Given the description of an element on the screen output the (x, y) to click on. 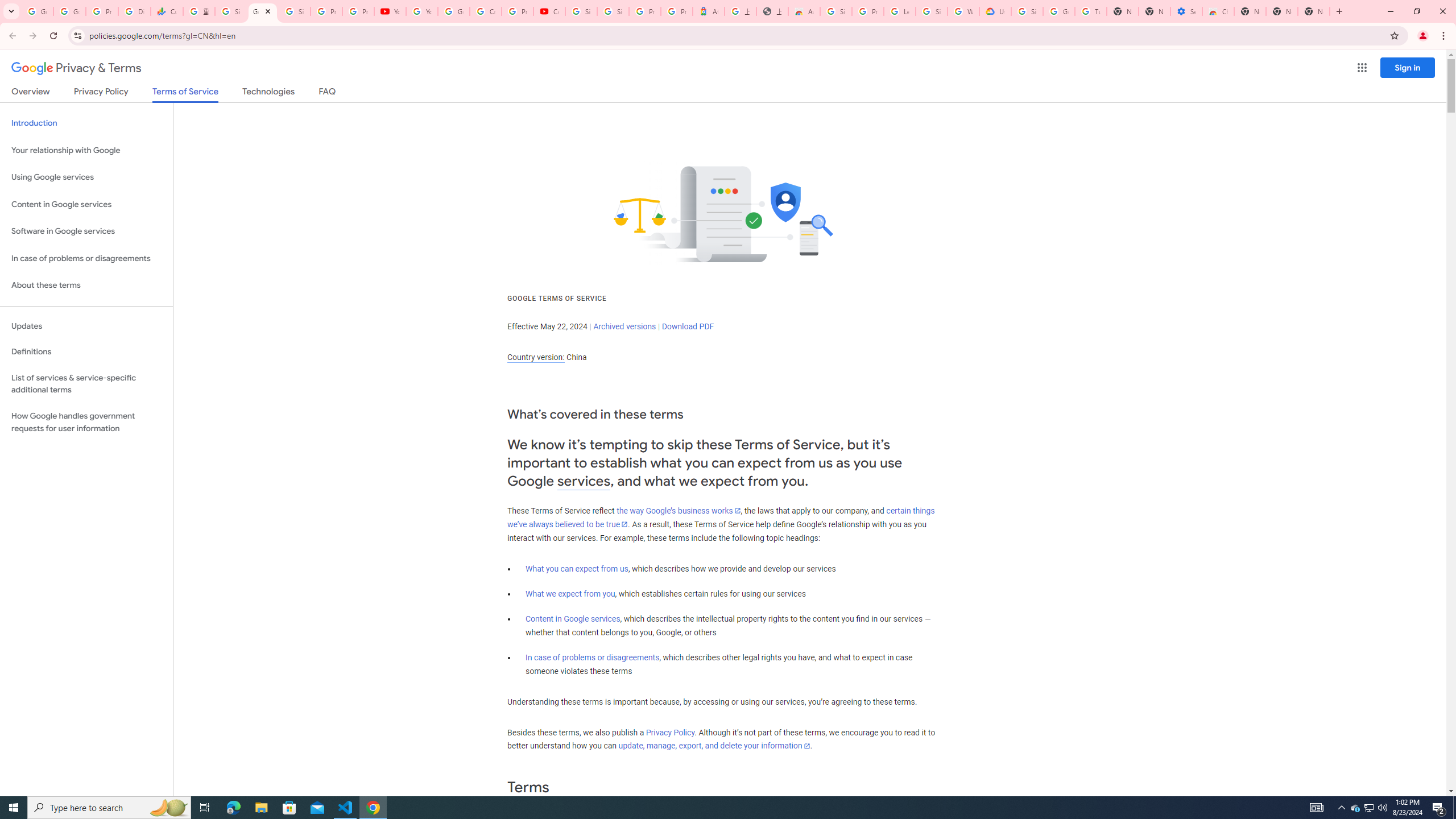
Google Account Help (453, 11)
Software in Google services (86, 230)
Privacy Policy (669, 732)
Introduction (86, 122)
Terms of Service (184, 94)
Sign in - Google Accounts (613, 11)
Download PDF (687, 326)
Google Account Help (1059, 11)
Currencies - Google Finance (166, 11)
